Given the description of an element on the screen output the (x, y) to click on. 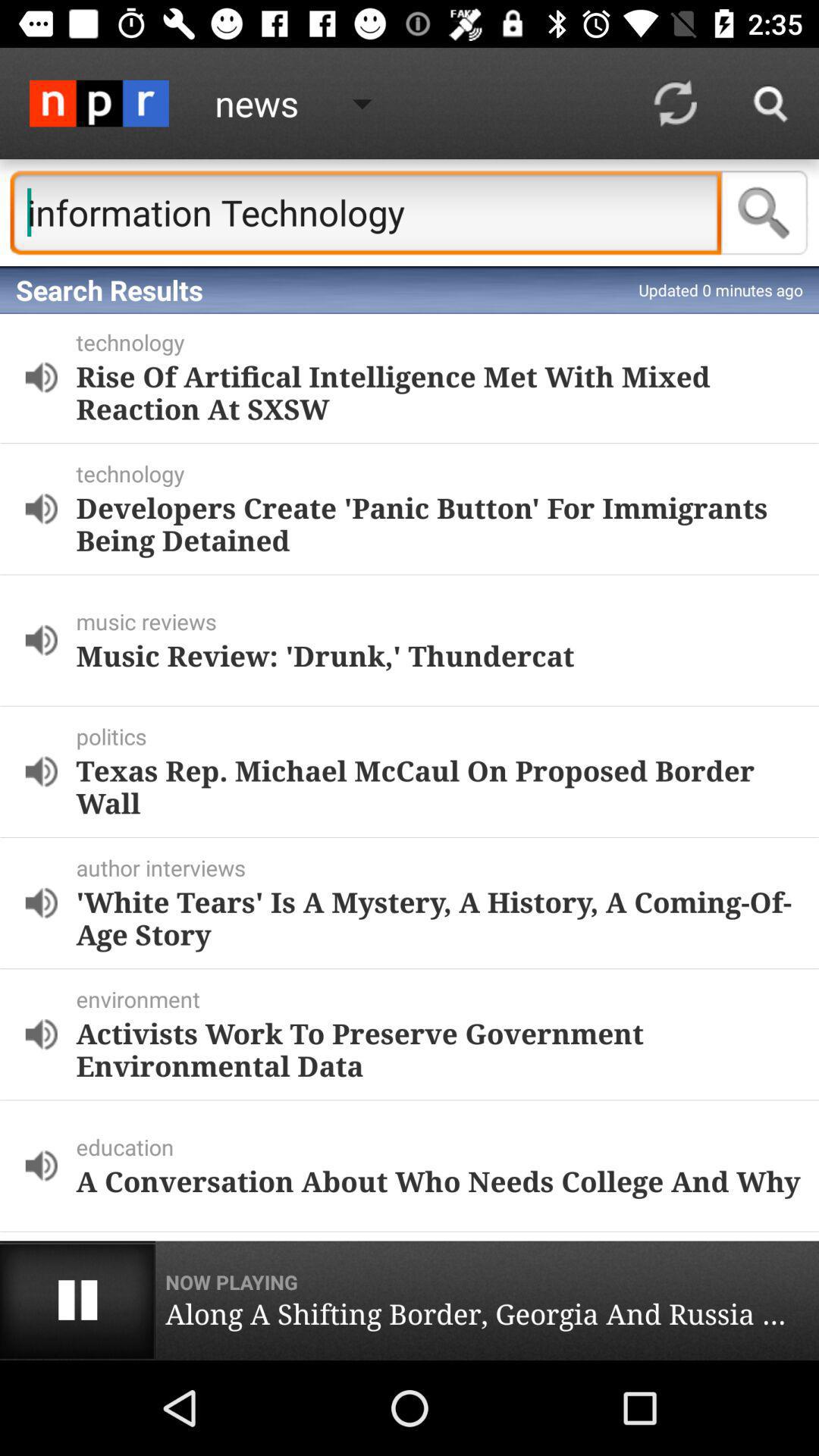
jump until the activists work to (438, 1049)
